Given the description of an element on the screen output the (x, y) to click on. 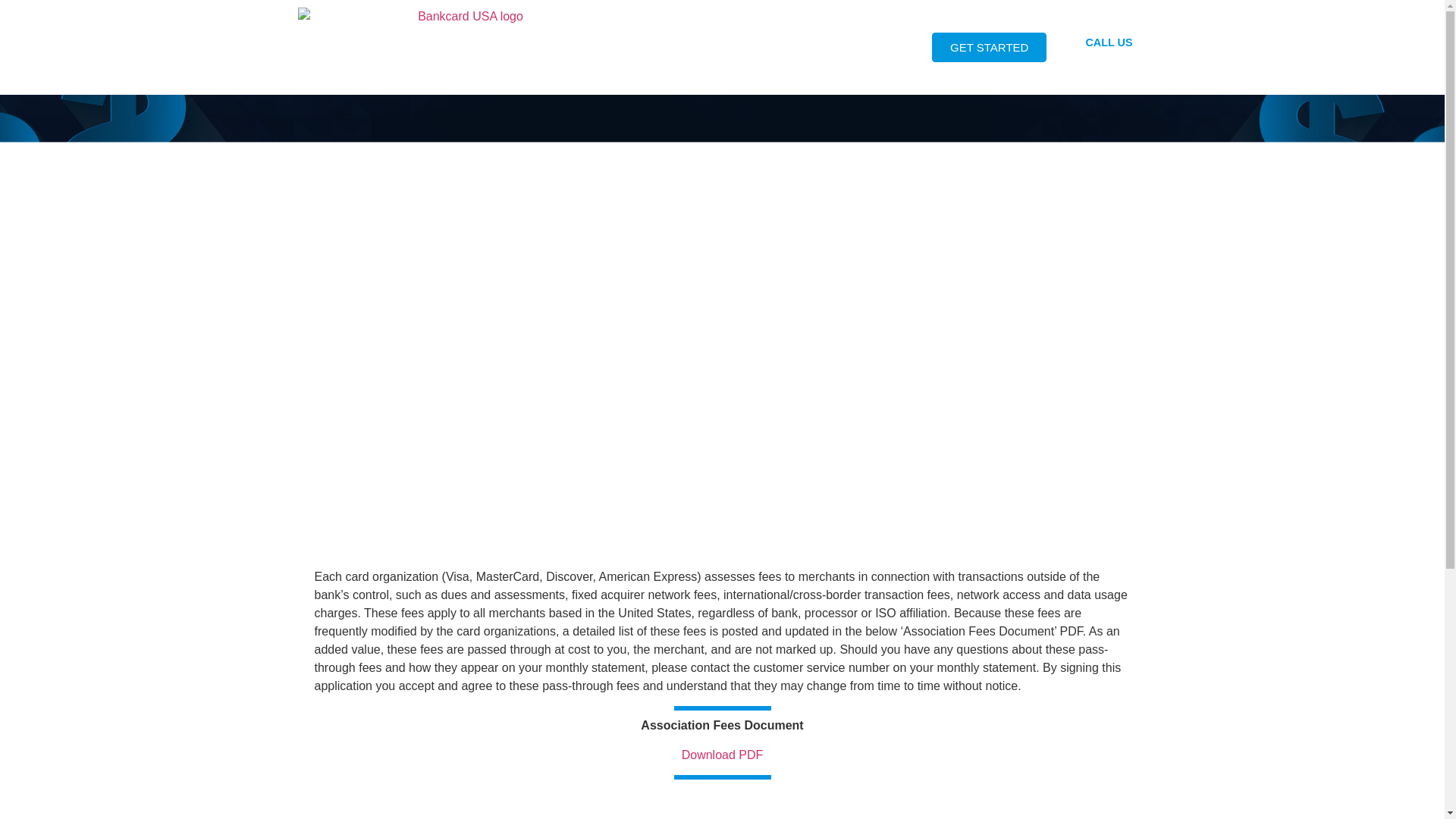
SERVICES (686, 46)
1.800.589.8200 (1108, 52)
COMPANY (778, 46)
RESOURCES (878, 46)
Download PDF (721, 754)
HOME (604, 46)
GET STARTED (988, 47)
